Given the description of an element on the screen output the (x, y) to click on. 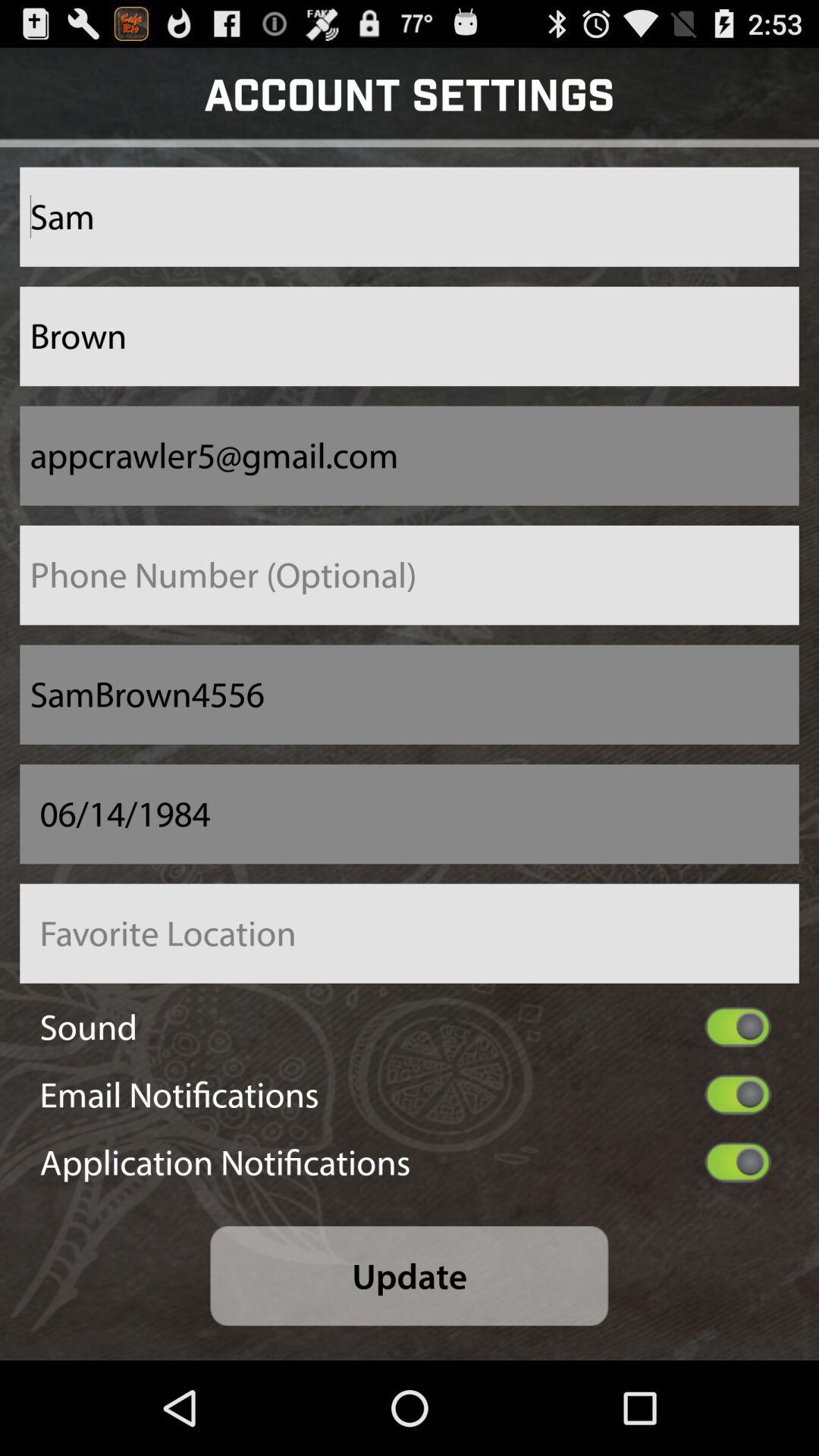
type favorite location (409, 933)
